Given the description of an element on the screen output the (x, y) to click on. 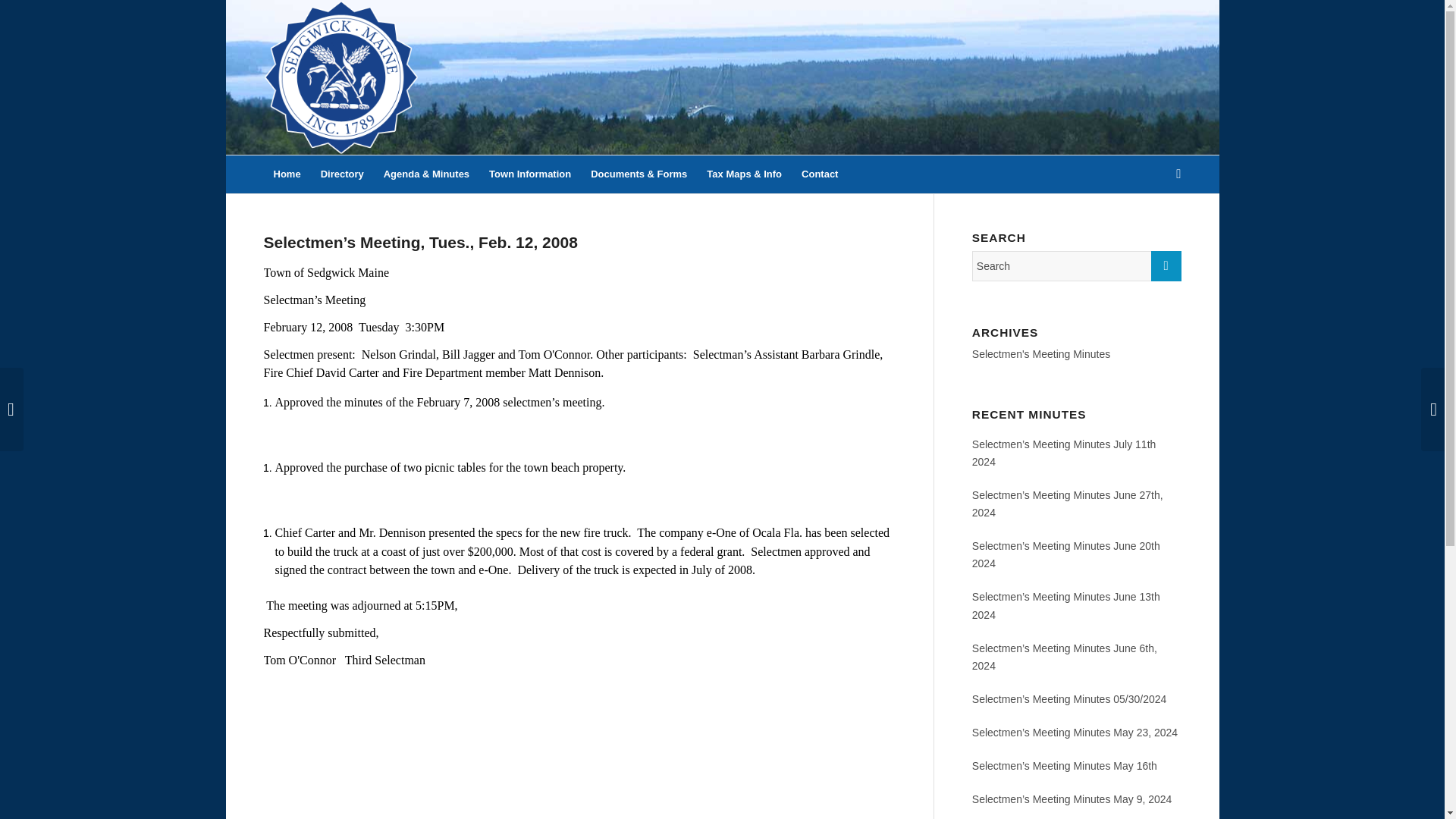
Home (287, 174)
Contact (819, 174)
Town Information (529, 174)
Directory (342, 174)
